Given the description of an element on the screen output the (x, y) to click on. 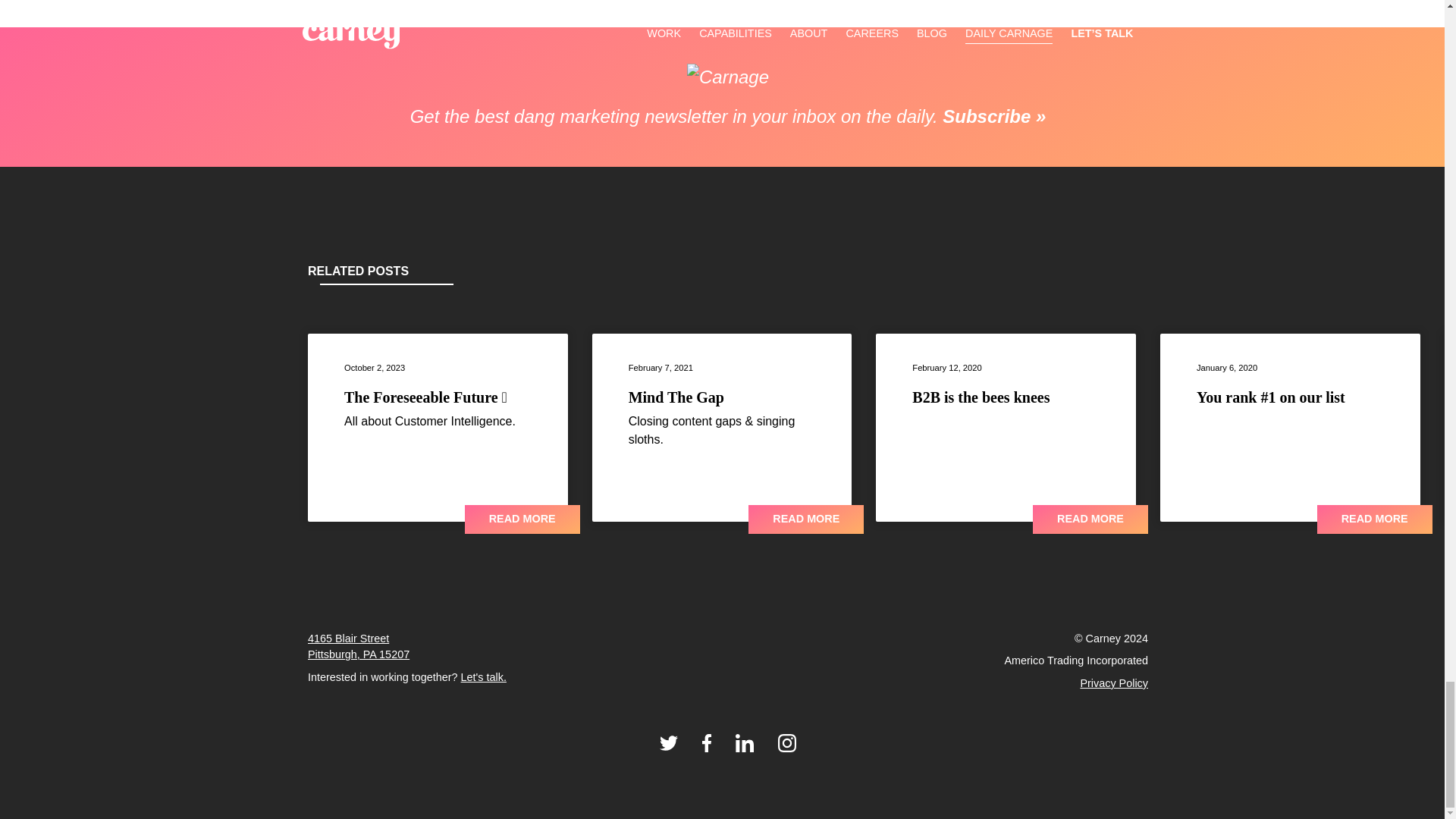
Privacy Policy (1114, 683)
READ MORE (358, 646)
READ MORE (805, 519)
Let's talk. (521, 519)
READ MORE (483, 676)
B2B is the bees knees (1374, 519)
READ MORE (980, 397)
Mind The Gap (1090, 519)
